Given the description of an element on the screen output the (x, y) to click on. 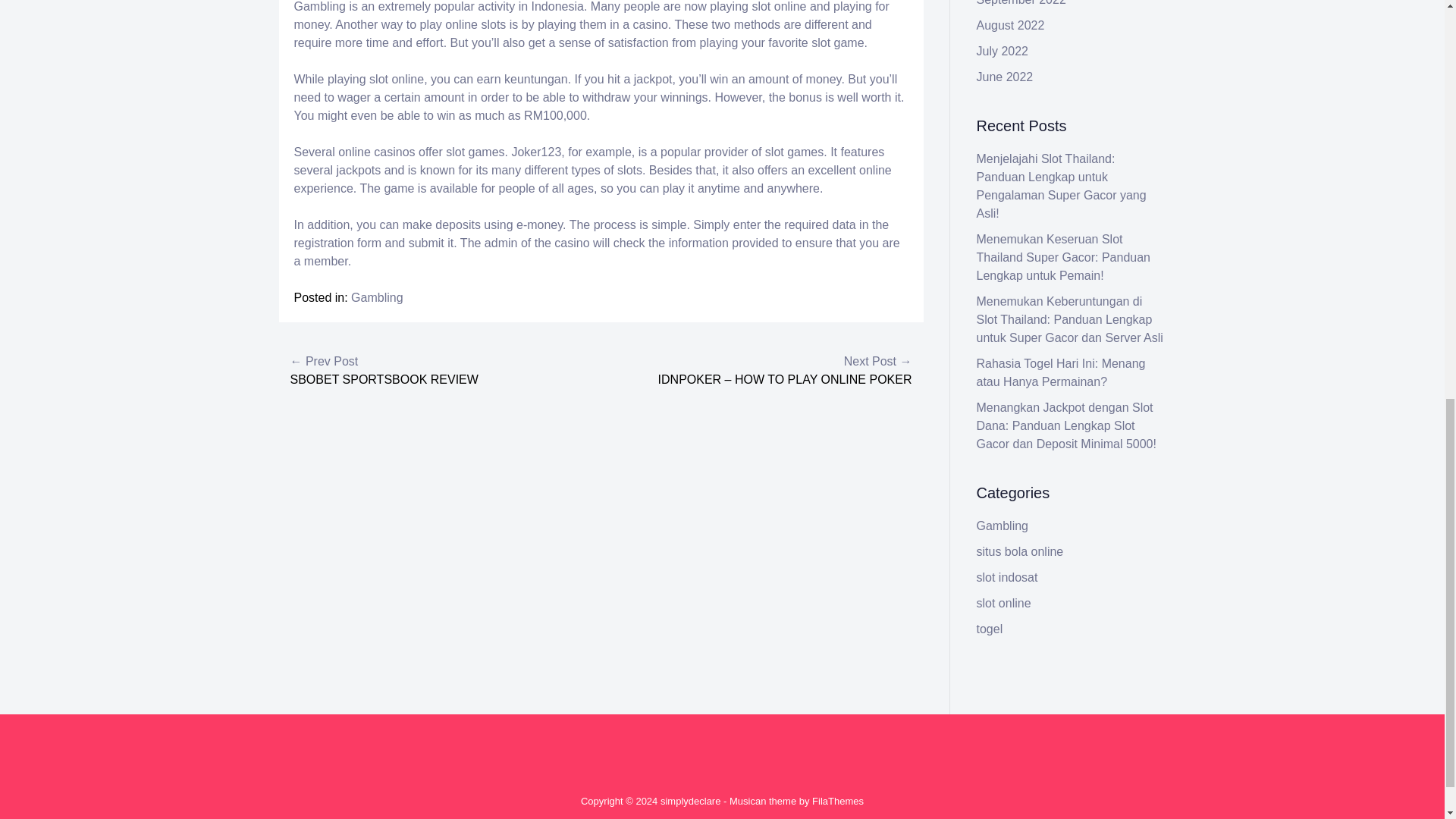
simplydeclare (690, 800)
September 2022 (1020, 2)
July 2022 (1002, 51)
June 2022 (1004, 76)
Gambling (376, 297)
August 2022 (1010, 24)
